Given the description of an element on the screen output the (x, y) to click on. 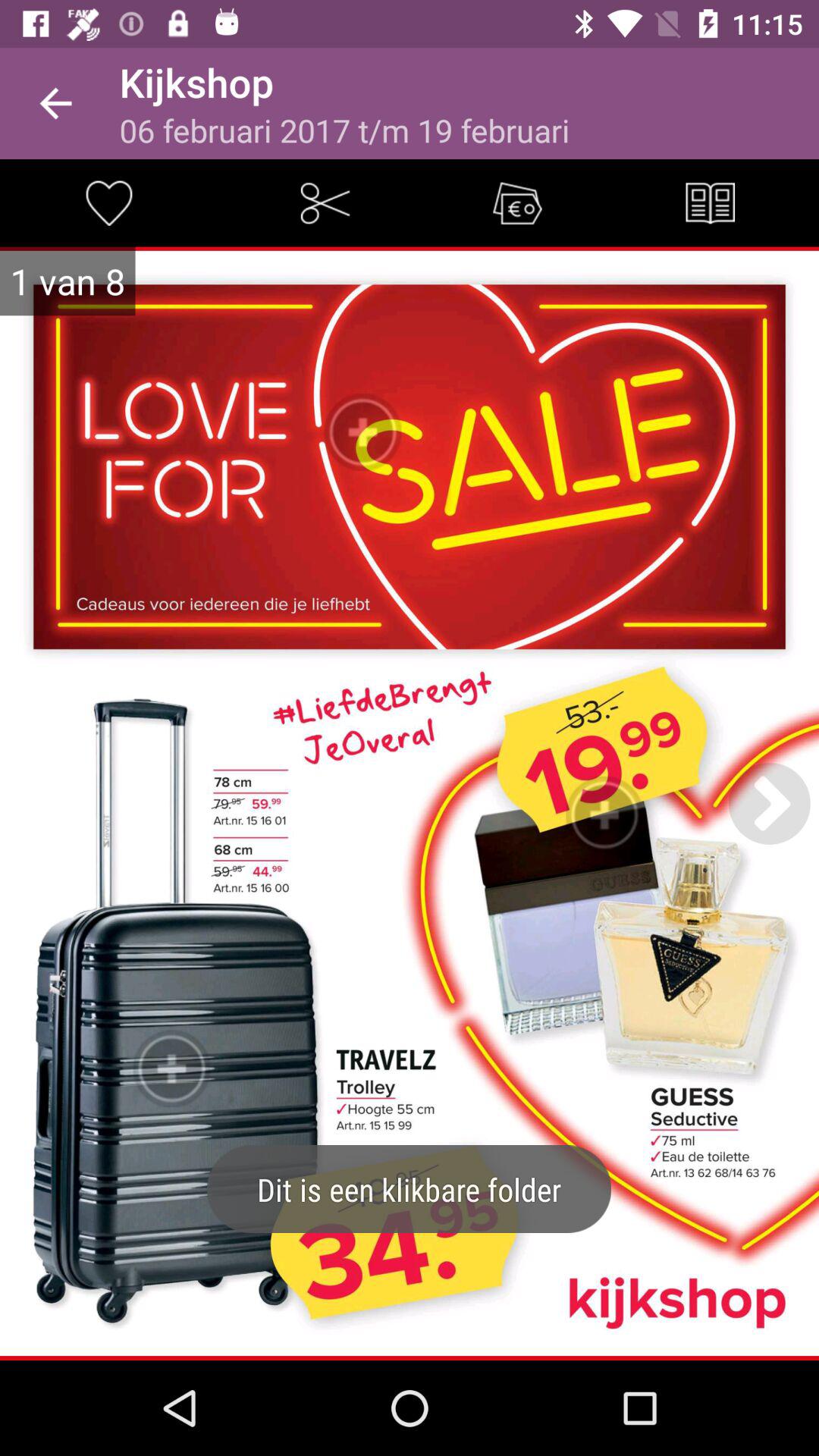
next page (769, 803)
